Given the description of an element on the screen output the (x, y) to click on. 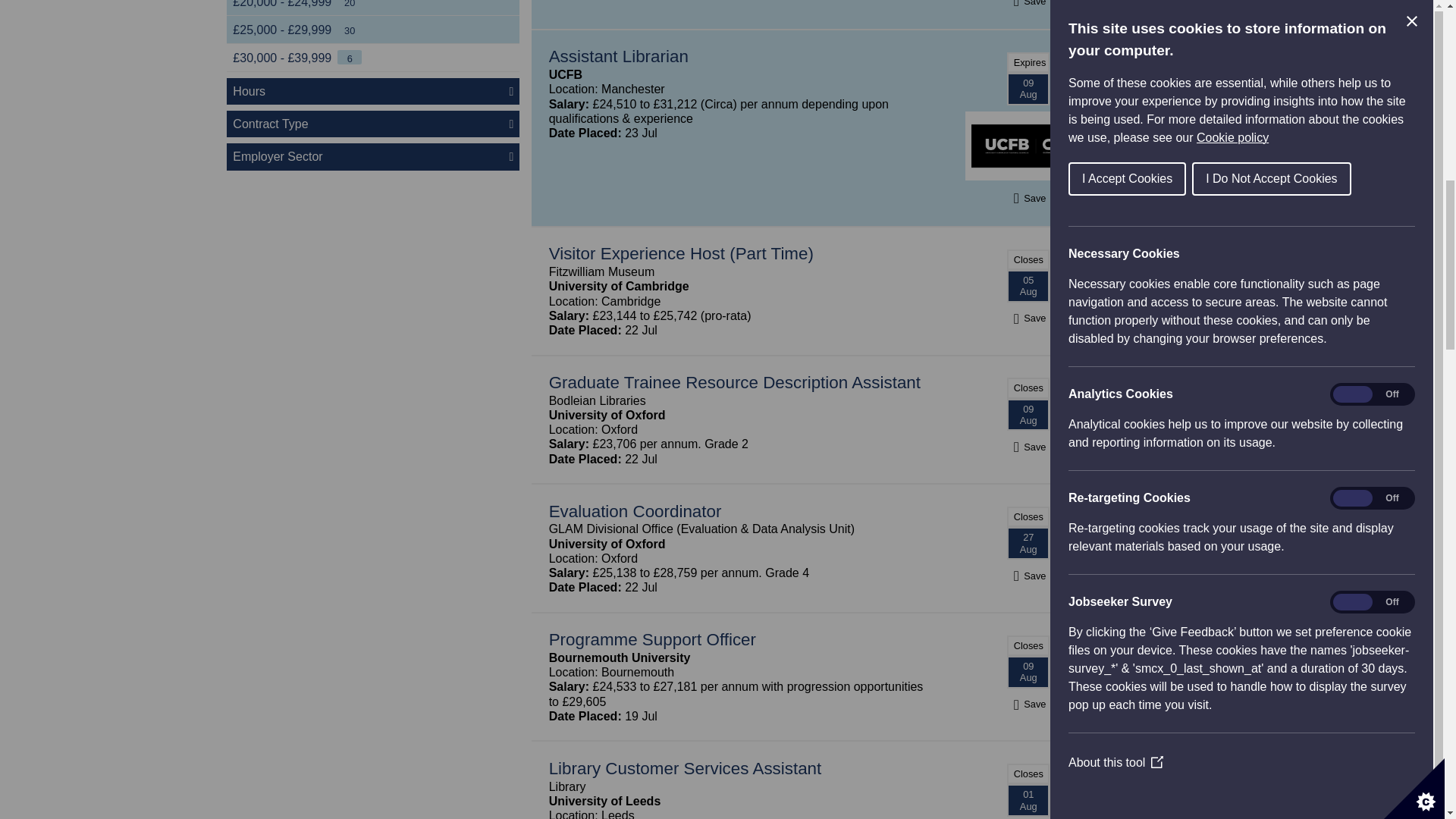
Save (1027, 2)
Assistant Librarian (618, 56)
Save job (1027, 575)
Save job (1027, 197)
Save job (1027, 317)
Save job (1027, 2)
Save (1027, 197)
Save job (1027, 446)
Save job (1027, 704)
